Given the description of an element on the screen output the (x, y) to click on. 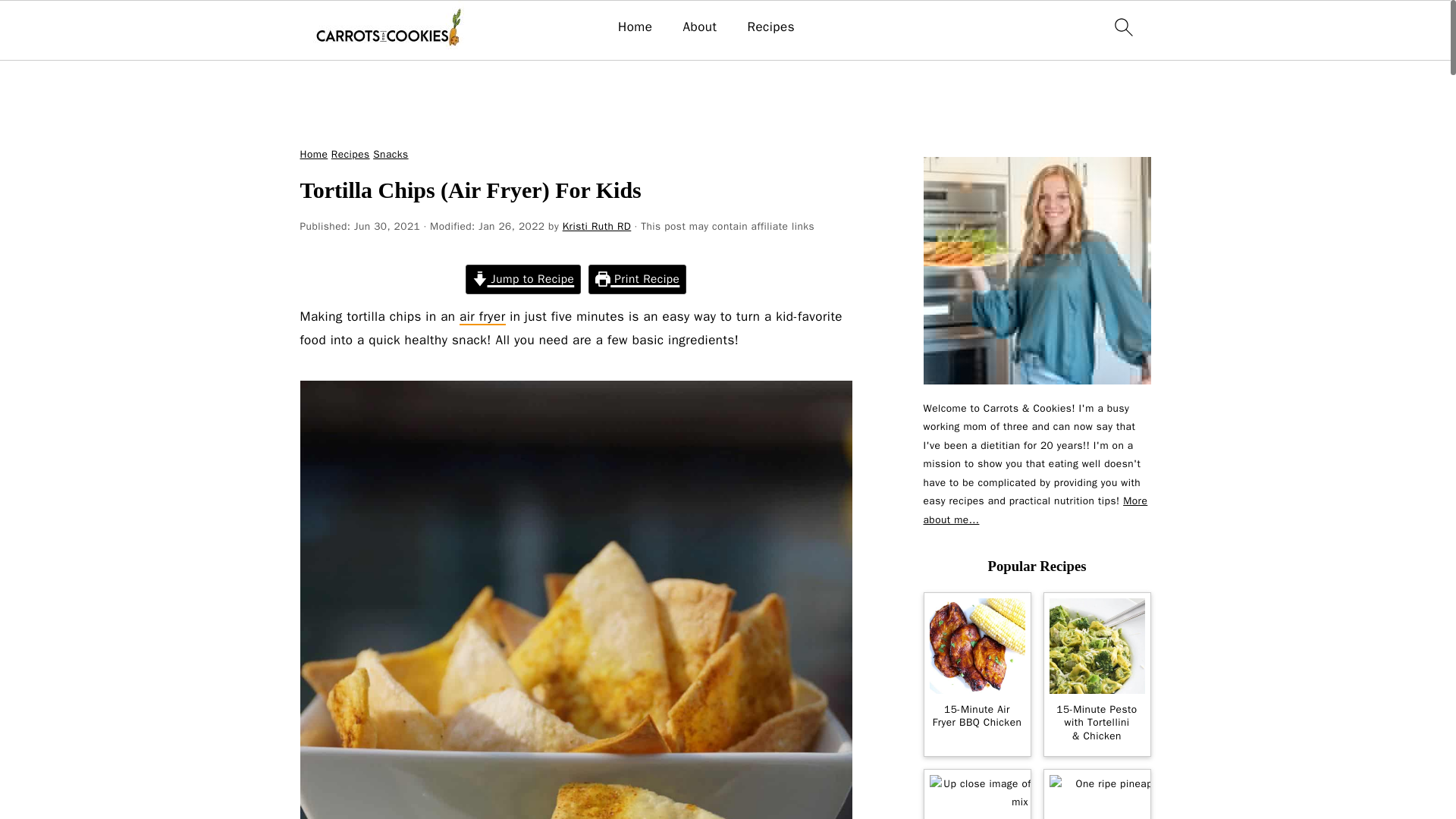
Snacks (389, 154)
search icon (1122, 26)
Recipes (350, 154)
Jump to Recipe (522, 279)
Print Recipe (636, 279)
Home (634, 27)
Home (314, 154)
air fryer (482, 316)
Recipes (770, 27)
